Given the description of an element on the screen output the (x, y) to click on. 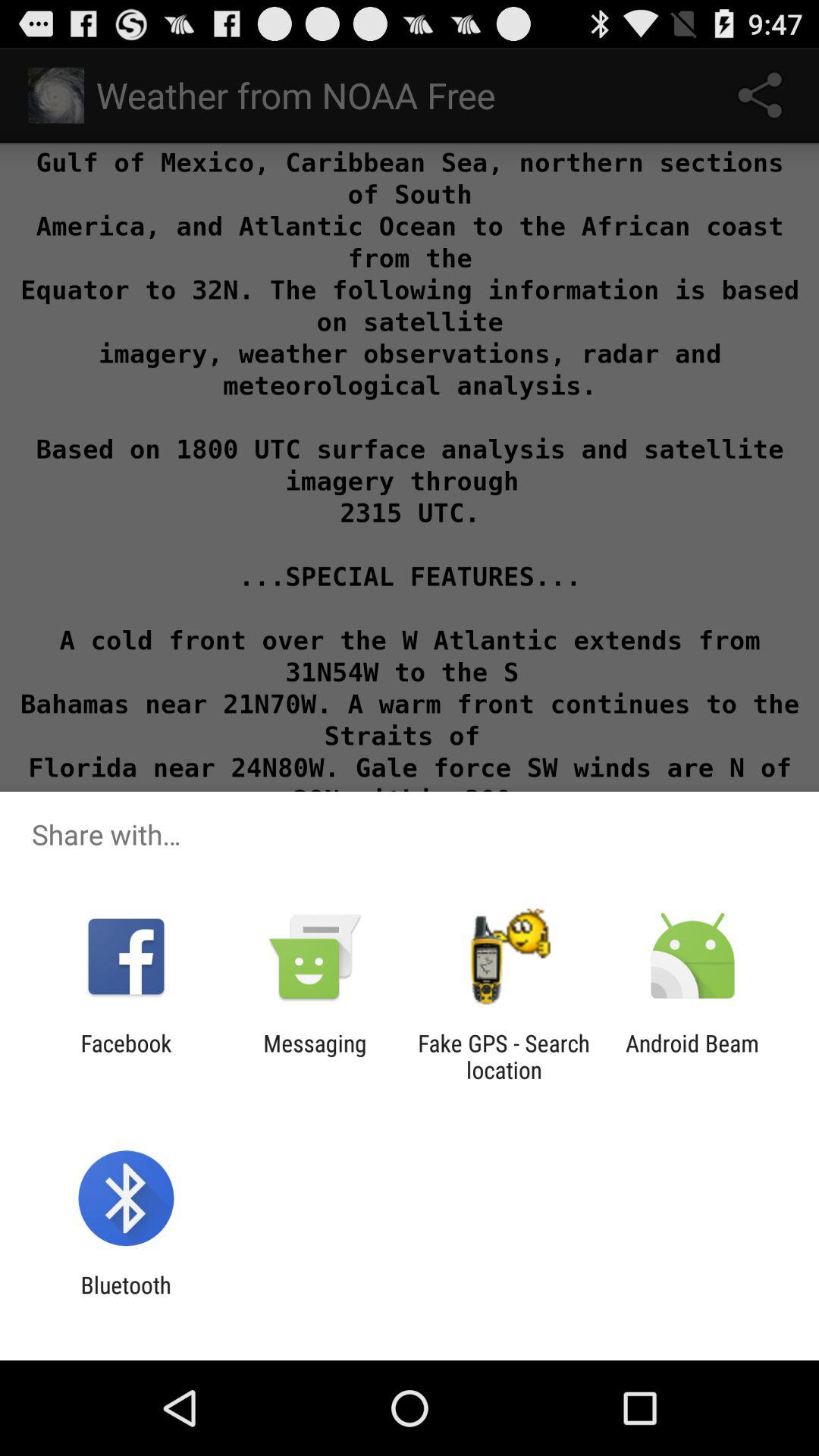
tap the icon at the bottom right corner (692, 1056)
